Given the description of an element on the screen output the (x, y) to click on. 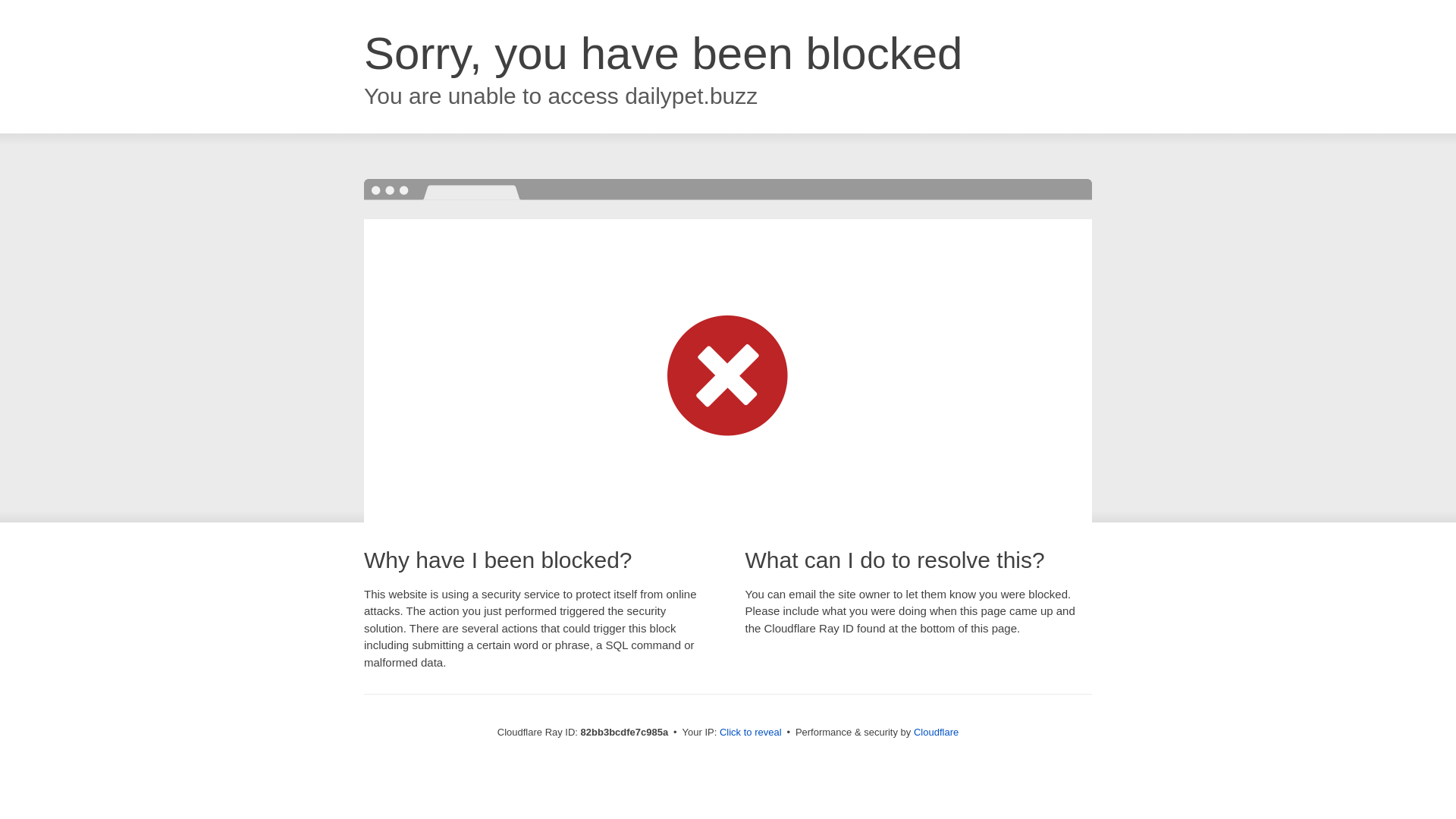
Click to reveal Element type: text (750, 732)
Cloudflare Element type: text (935, 731)
